Given the description of an element on the screen output the (x, y) to click on. 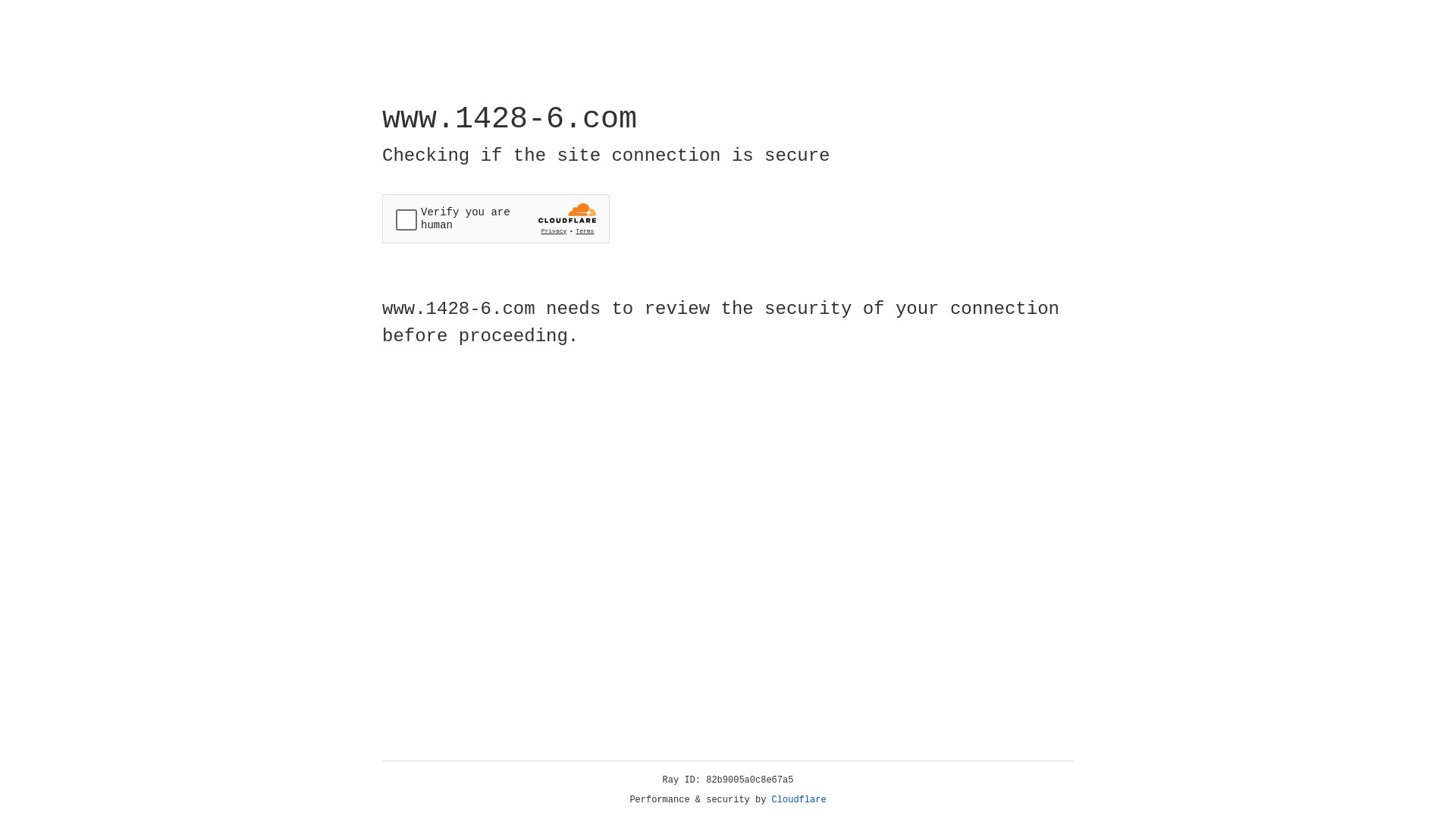
Cloudflare Element type: text (798, 799)
Widget containing a Cloudflare security challenge Element type: hover (495, 218)
